Given the description of an element on the screen output the (x, y) to click on. 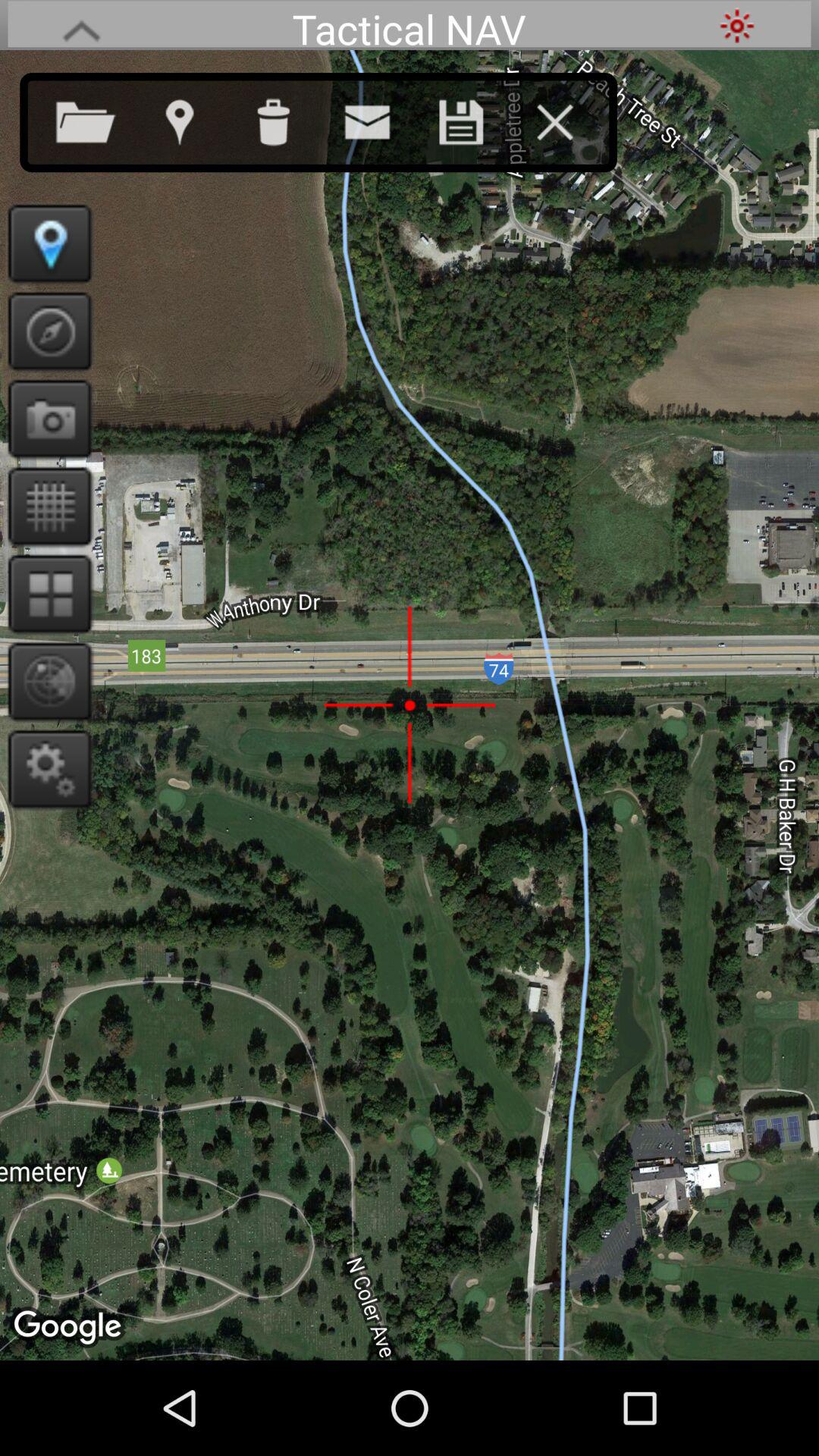
take picutre (45, 418)
